Given the description of an element on the screen output the (x, y) to click on. 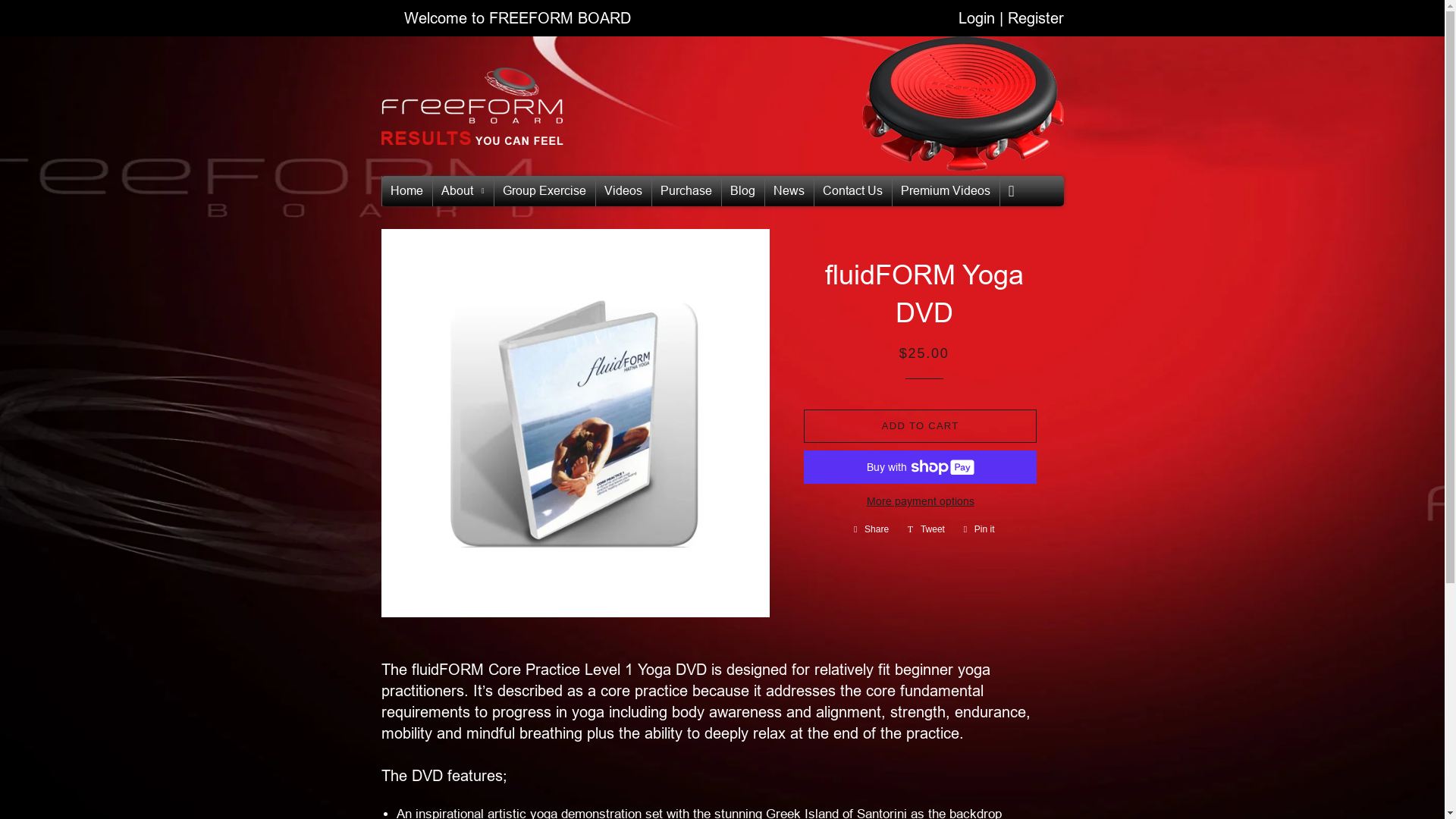
Contact Us (852, 191)
About (462, 192)
Pin on Pinterest (979, 528)
Tweet on Twitter (925, 528)
Register (1034, 17)
Login (978, 17)
Videos (870, 528)
Home (622, 191)
